Given the description of an element on the screen output the (x, y) to click on. 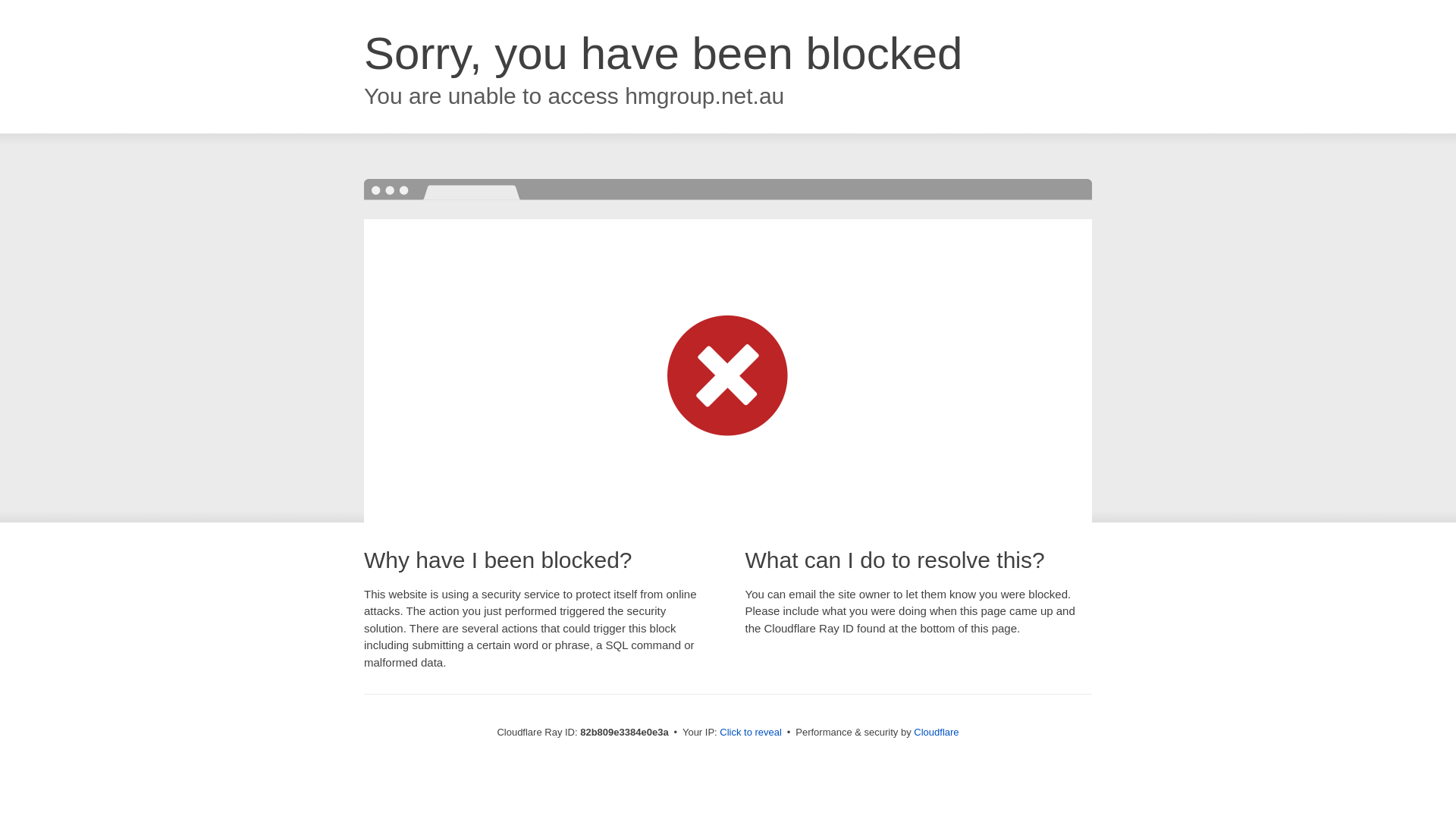
Cloudflare Element type: text (935, 731)
Click to reveal Element type: text (750, 732)
